Given the description of an element on the screen output the (x, y) to click on. 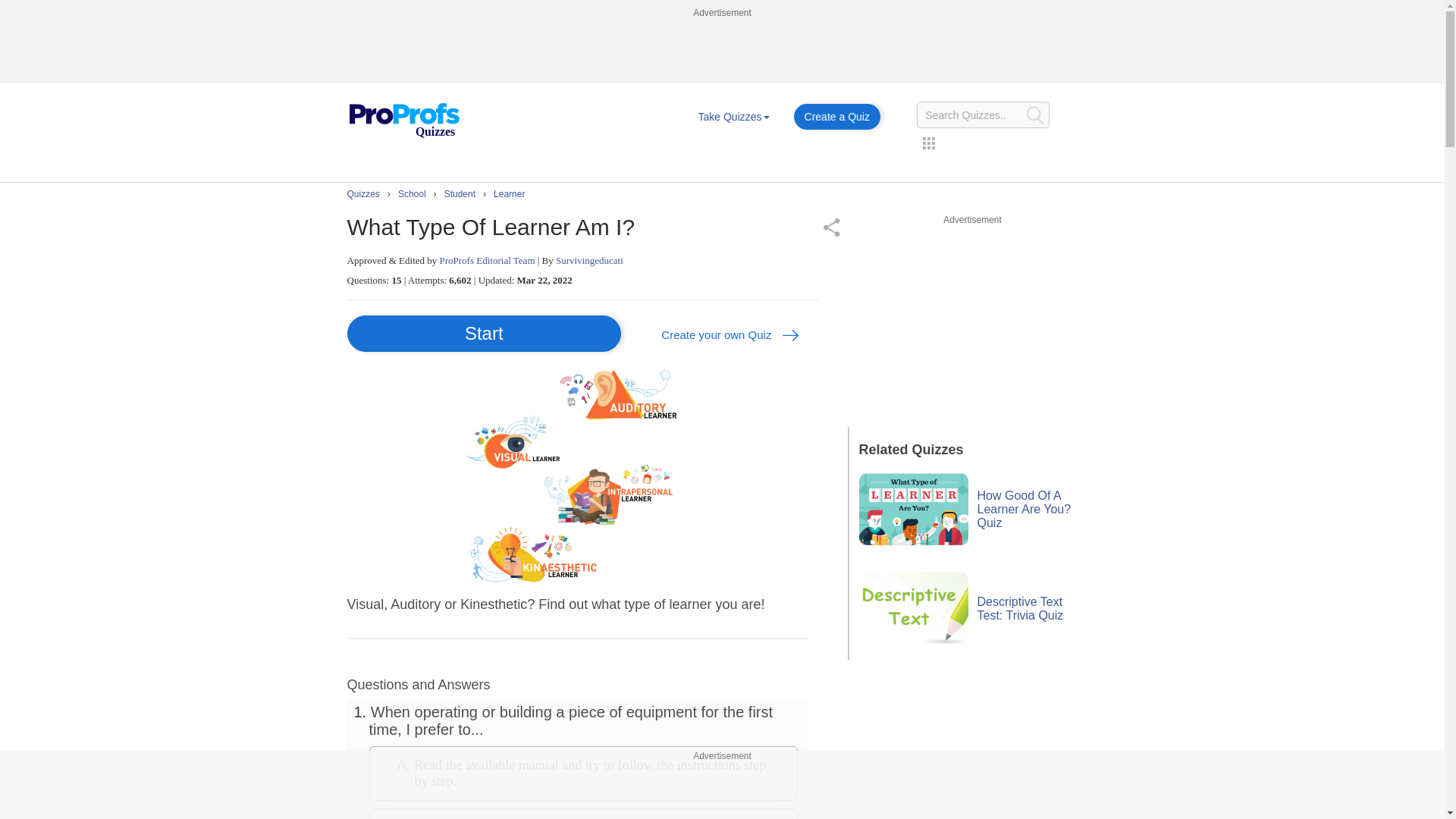
Quizzes (403, 109)
Browse (733, 116)
Create a Quiz (836, 116)
on (385, 765)
Quizzes (403, 120)
Take Quizzes (733, 116)
